Given the description of an element on the screen output the (x, y) to click on. 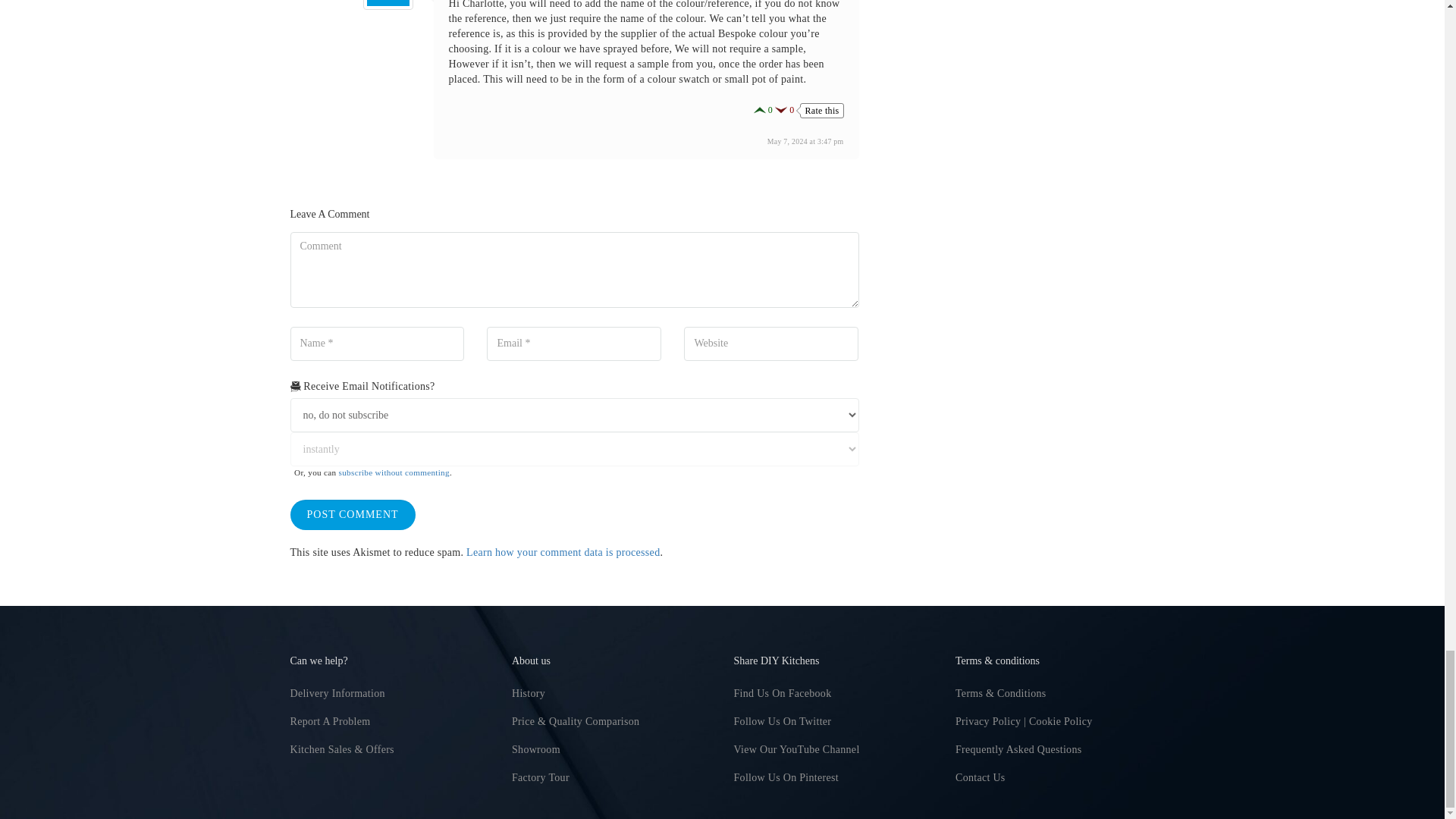
Notify Me (574, 449)
Receive Notifications? (574, 415)
Post Comment (351, 514)
